Given the description of an element on the screen output the (x, y) to click on. 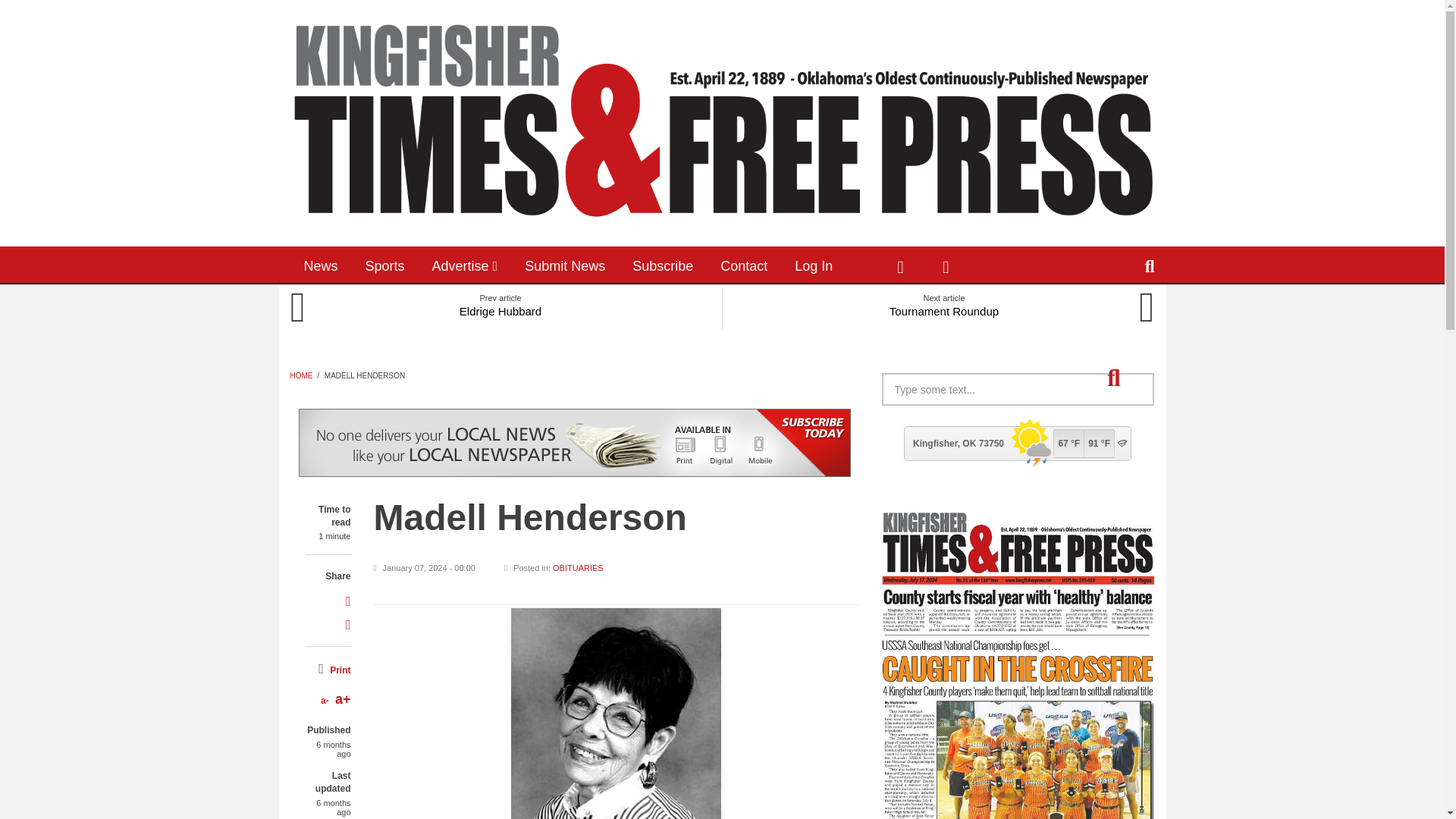
Tournament Roundup (943, 307)
Eldrige Hubbard (499, 307)
a- (324, 700)
Facebook (899, 264)
Type some text... (1017, 389)
Eldrige Hubbard (499, 307)
Subscribe (662, 264)
Twitter (944, 264)
News (319, 264)
Log In (812, 264)
Contact (743, 264)
Sports (385, 264)
OBITUARIES (578, 567)
Tournament Roundup (943, 307)
